Given the description of an element on the screen output the (x, y) to click on. 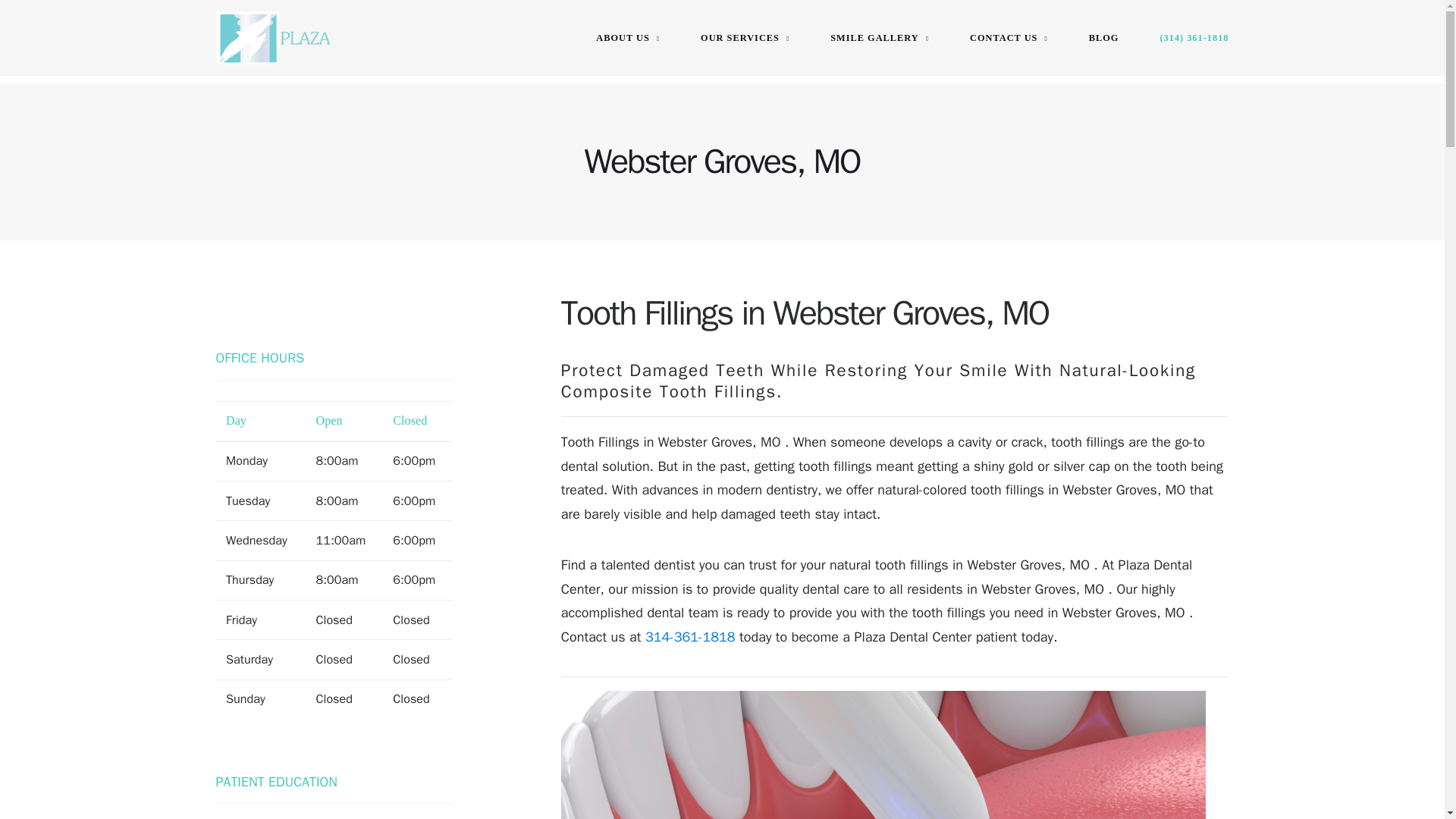
BLOG (1104, 37)
SMILE GALLERY (878, 37)
OUR SERVICES (744, 37)
ABOUT US (627, 37)
CONTACT US (1008, 37)
